Given the description of an element on the screen output the (x, y) to click on. 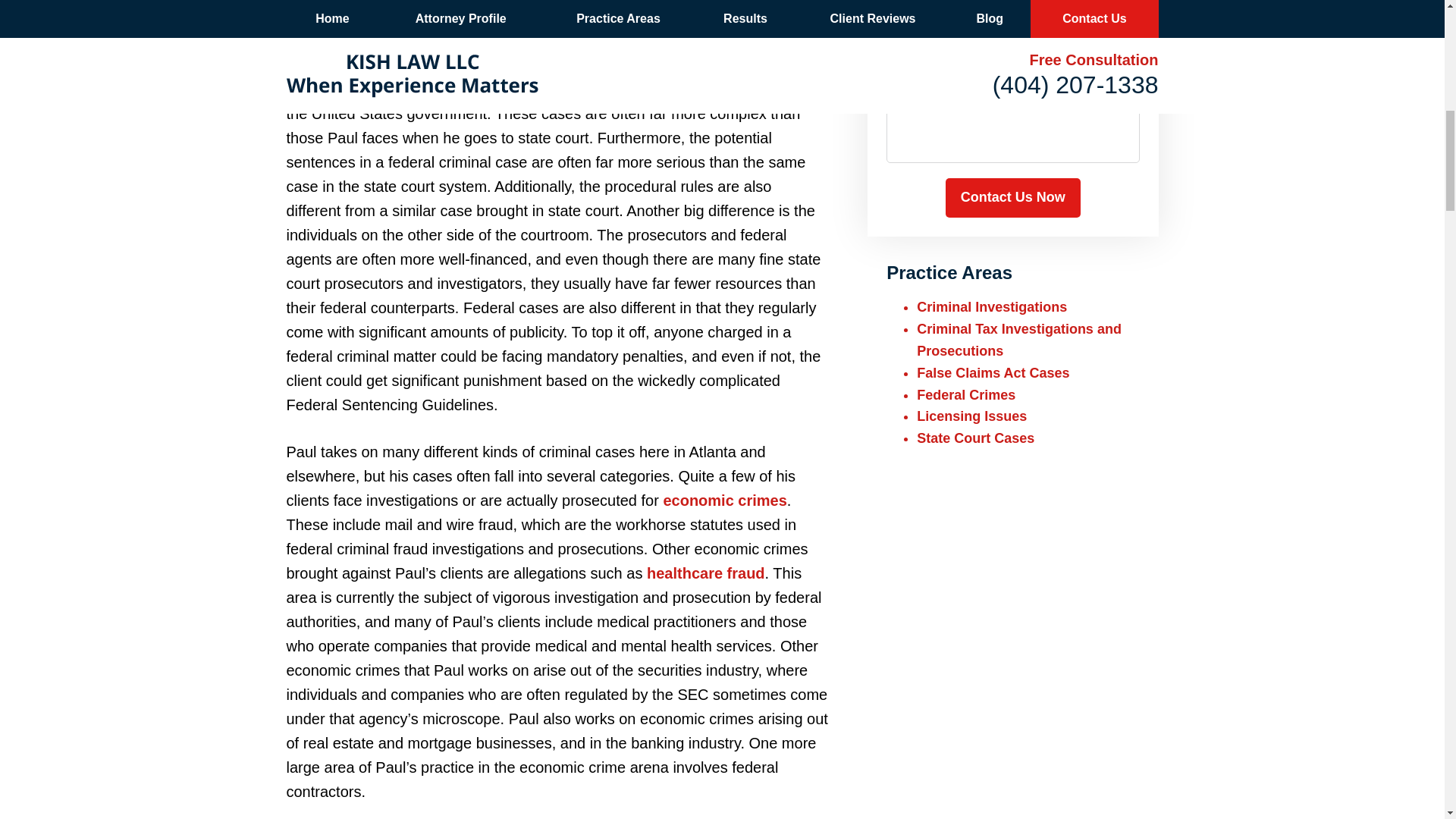
Federal criminal defense (375, 40)
healthcare fraud (705, 573)
economic crimes (724, 500)
